Given the description of an element on the screen output the (x, y) to click on. 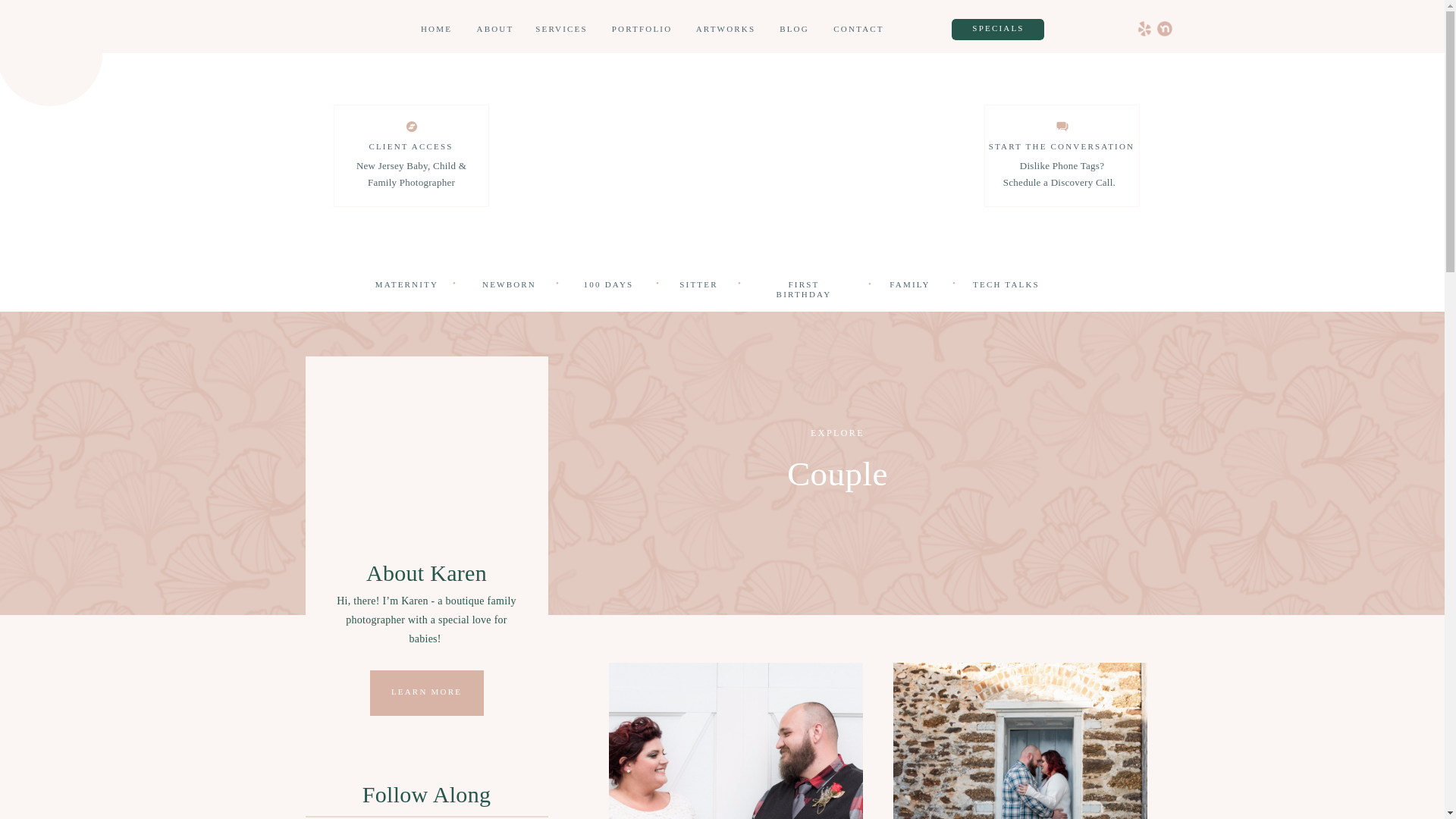
ABOUT (495, 30)
ARTWORKS (724, 30)
CONTACT (858, 30)
PORTFOLIO (642, 30)
SERVICES (561, 30)
Alice Wonderland Themed Wedding (734, 740)
BLOG (793, 30)
HOME (435, 30)
SPECIALS (998, 29)
